Given the description of an element on the screen output the (x, y) to click on. 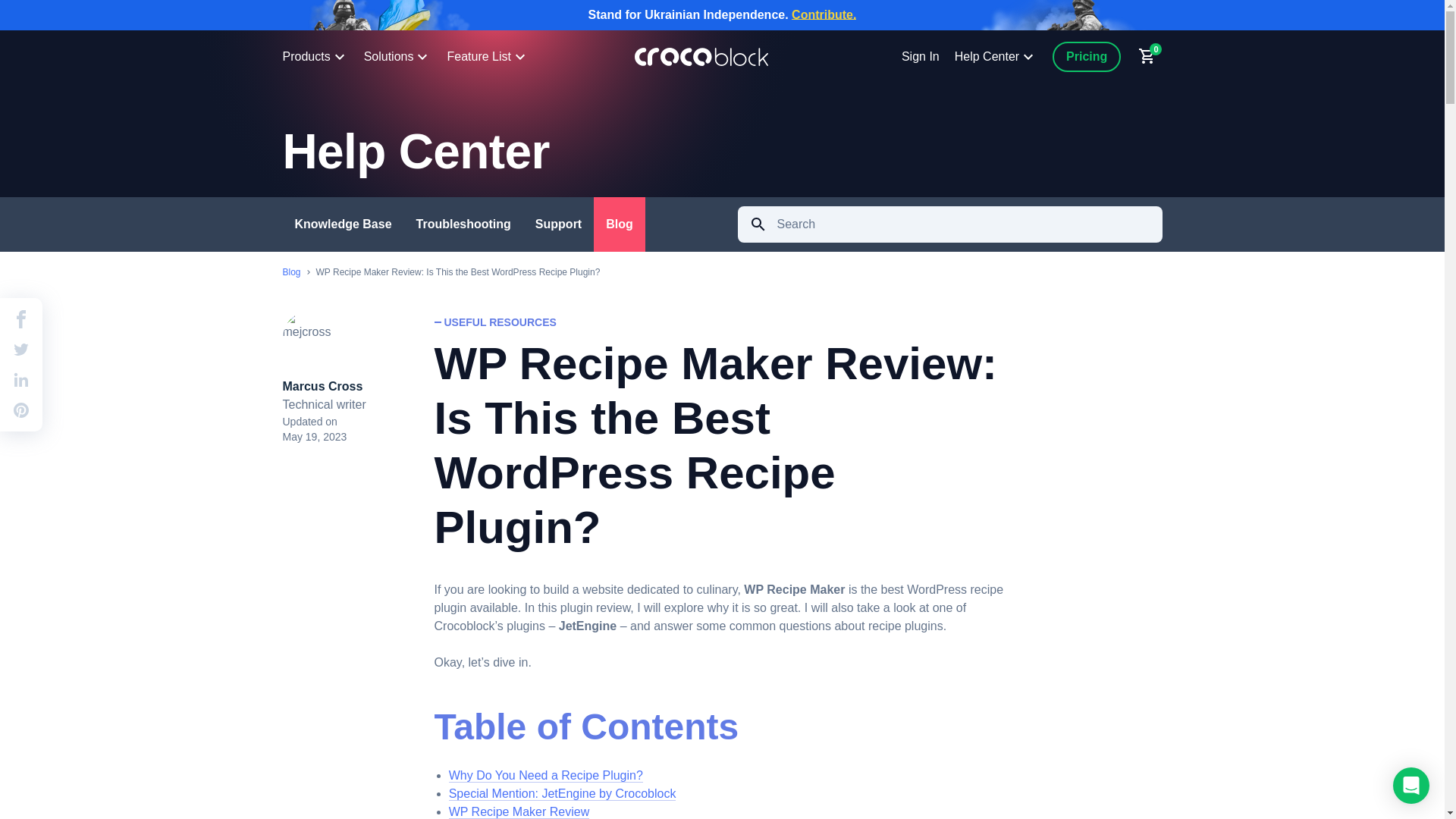
Share on Twitter (20, 349)
Share on Facebook (20, 319)
Share on Pinterest (20, 410)
Share on LinkedIn (20, 380)
